Given the description of an element on the screen output the (x, y) to click on. 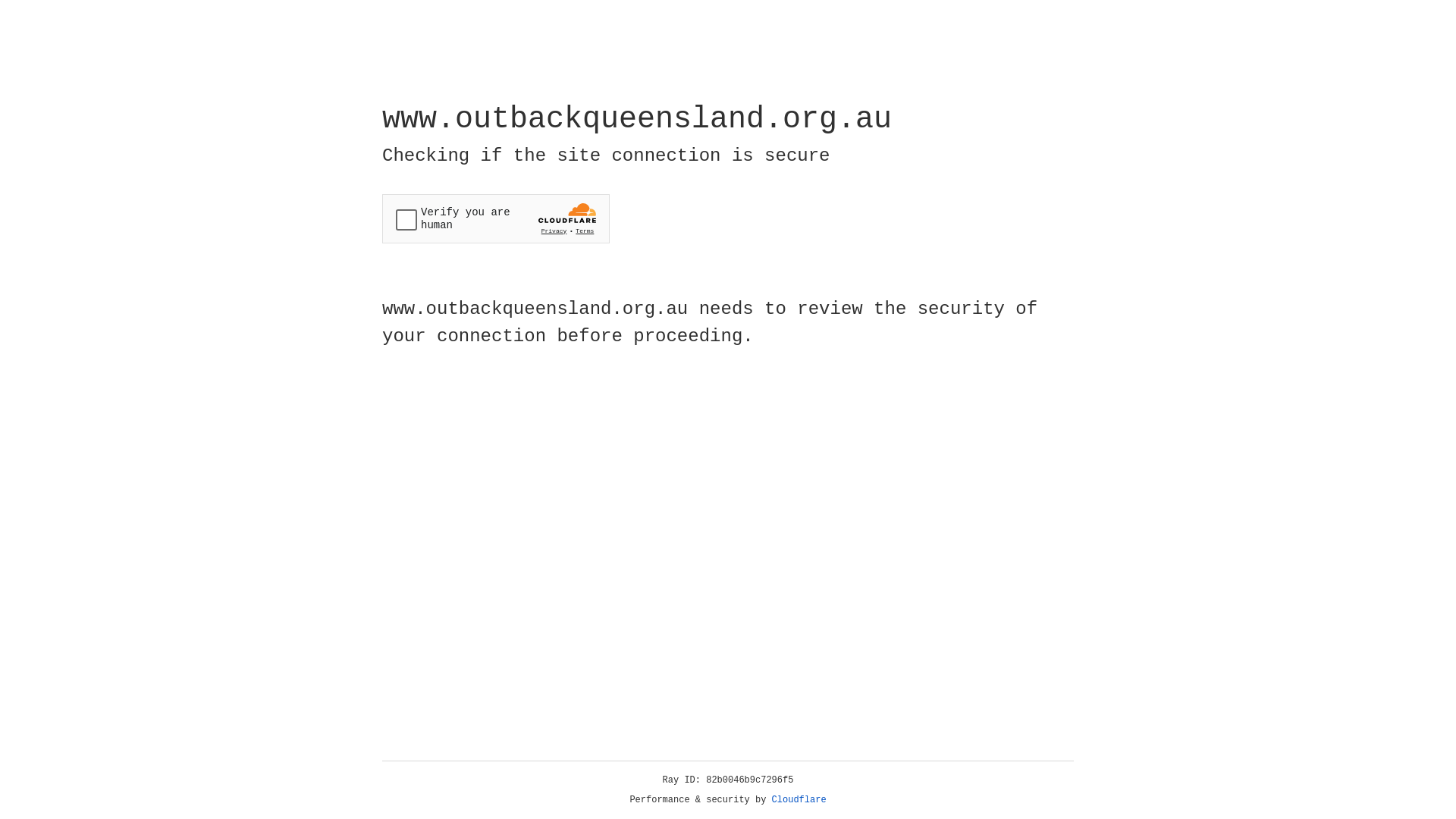
Widget containing a Cloudflare security challenge Element type: hover (495, 218)
Cloudflare Element type: text (798, 799)
